Given the description of an element on the screen output the (x, y) to click on. 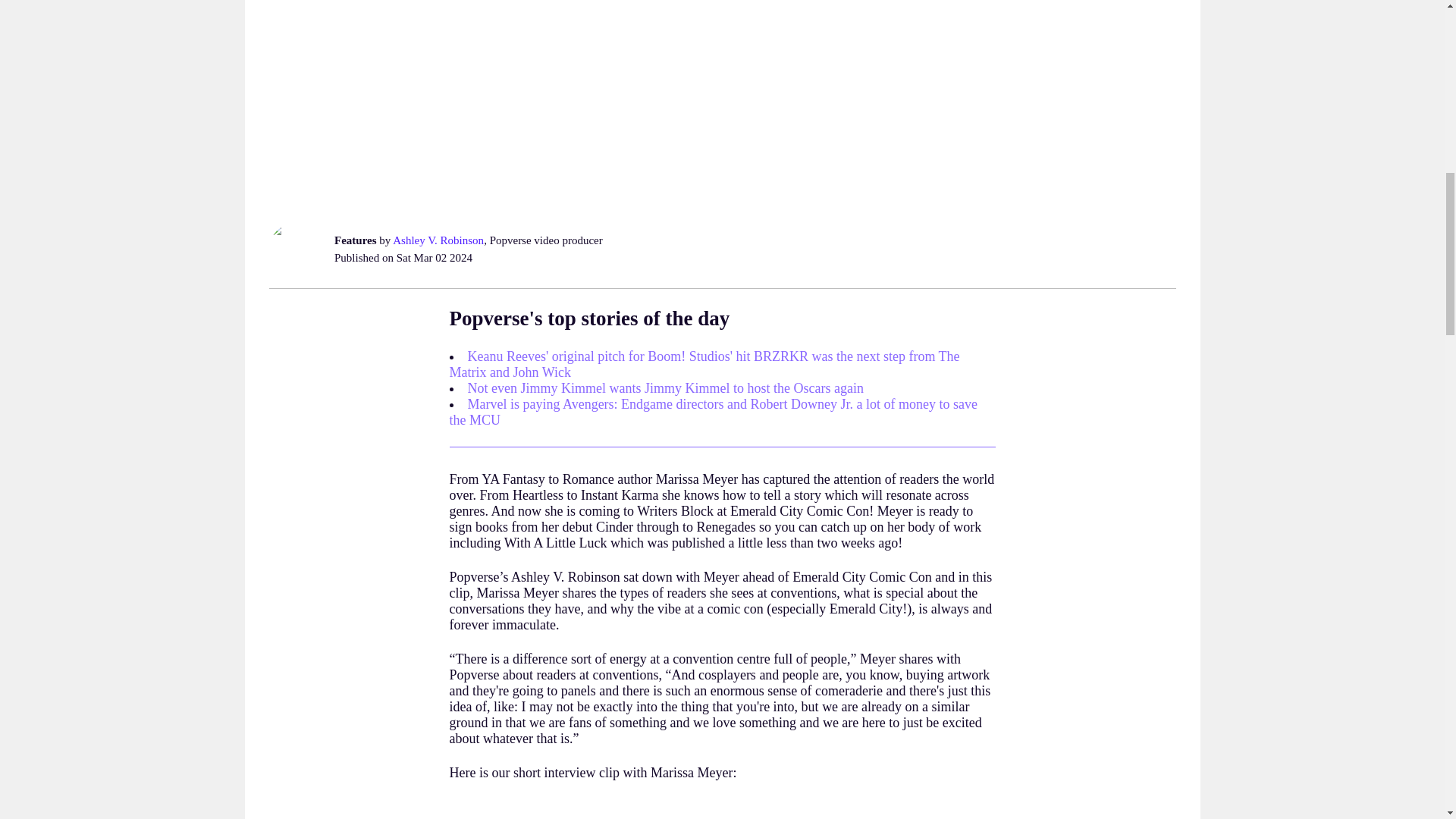
Embedded video (721, 812)
Ashley V. Robinson (438, 240)
